Given the description of an element on the screen output the (x, y) to click on. 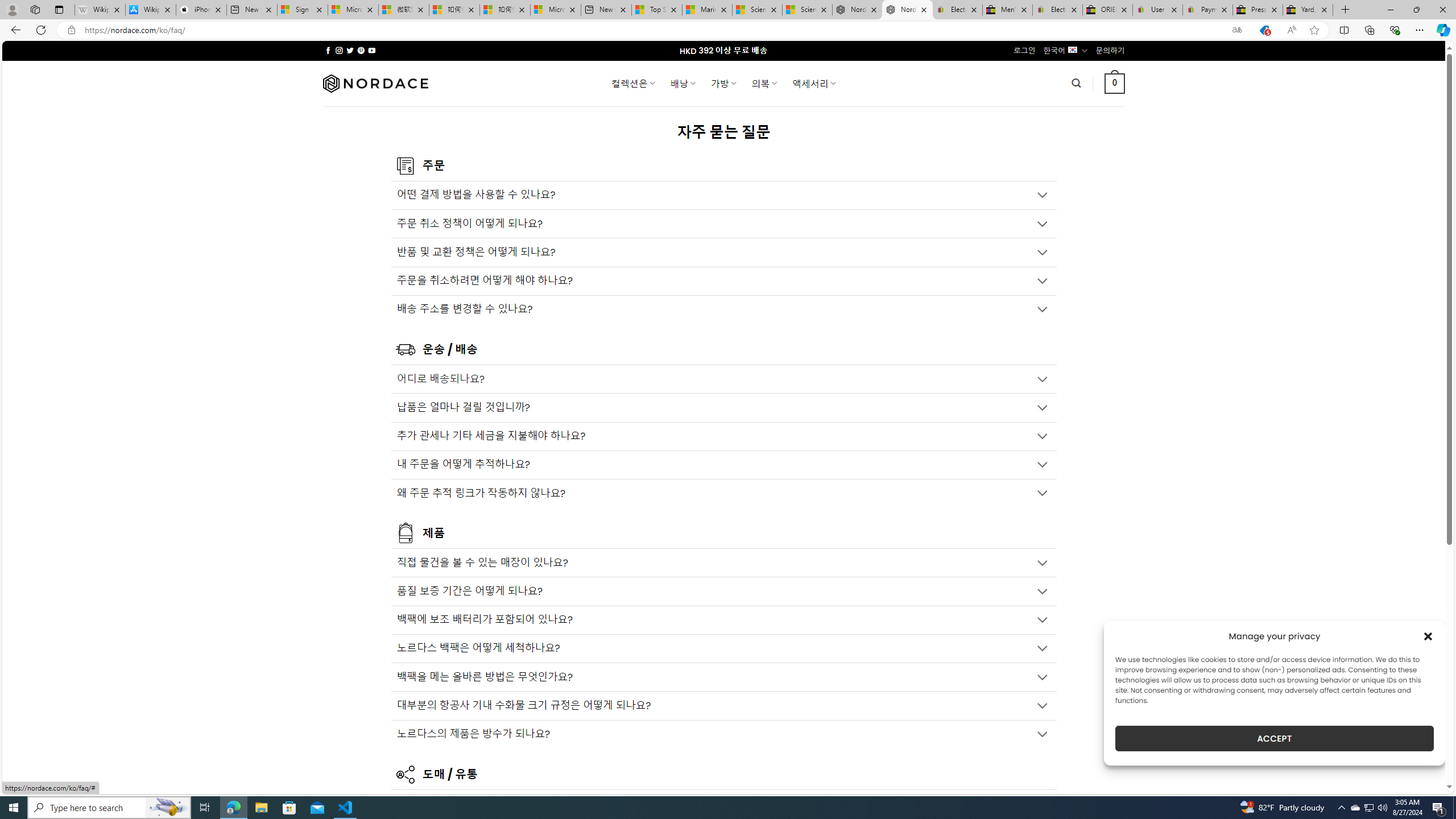
Microsoft account | Account Checkup (555, 9)
ACCEPT (1274, 738)
